Given the description of an element on the screen output the (x, y) to click on. 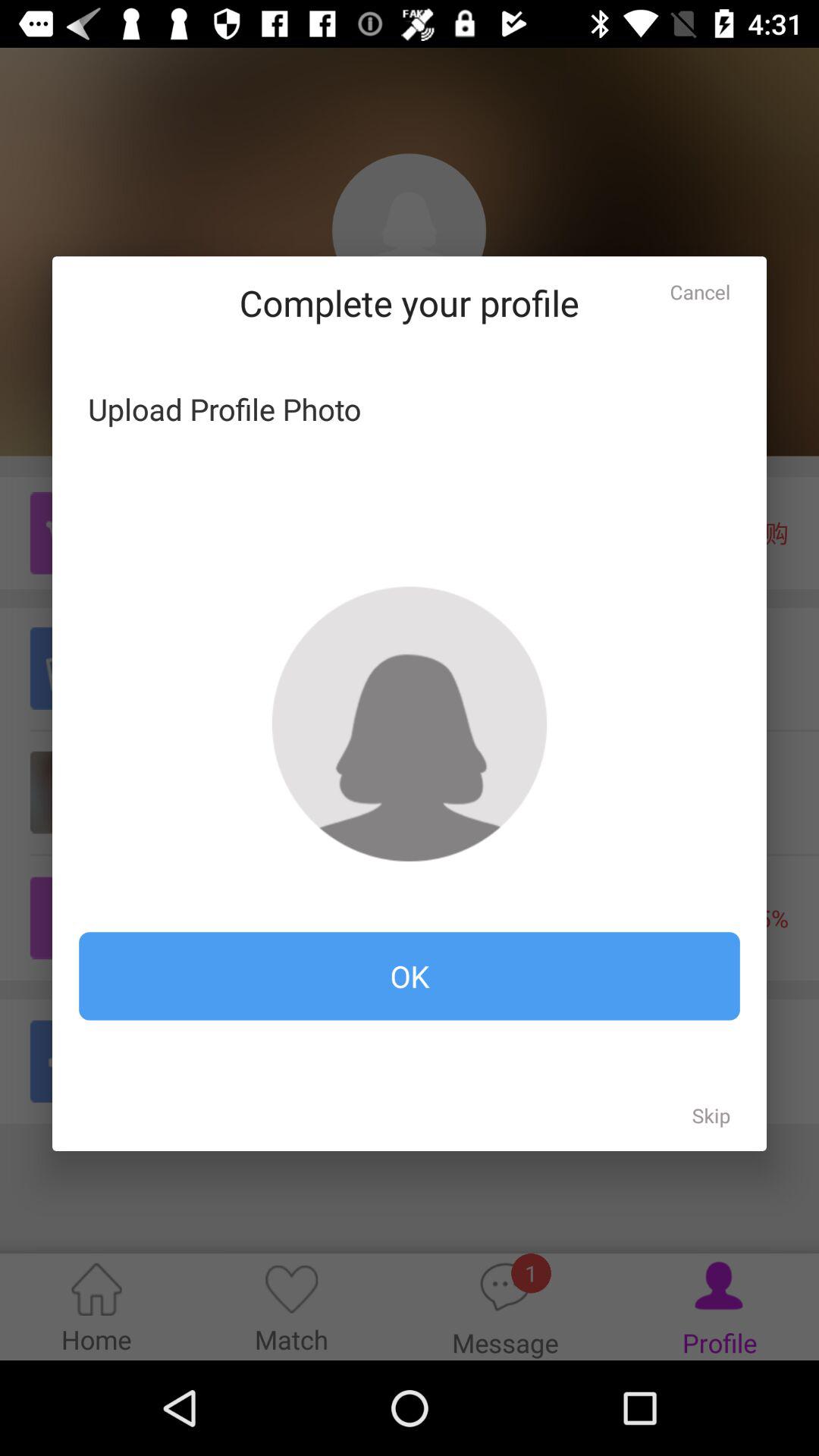
press item above ok icon (700, 291)
